Given the description of an element on the screen output the (x, y) to click on. 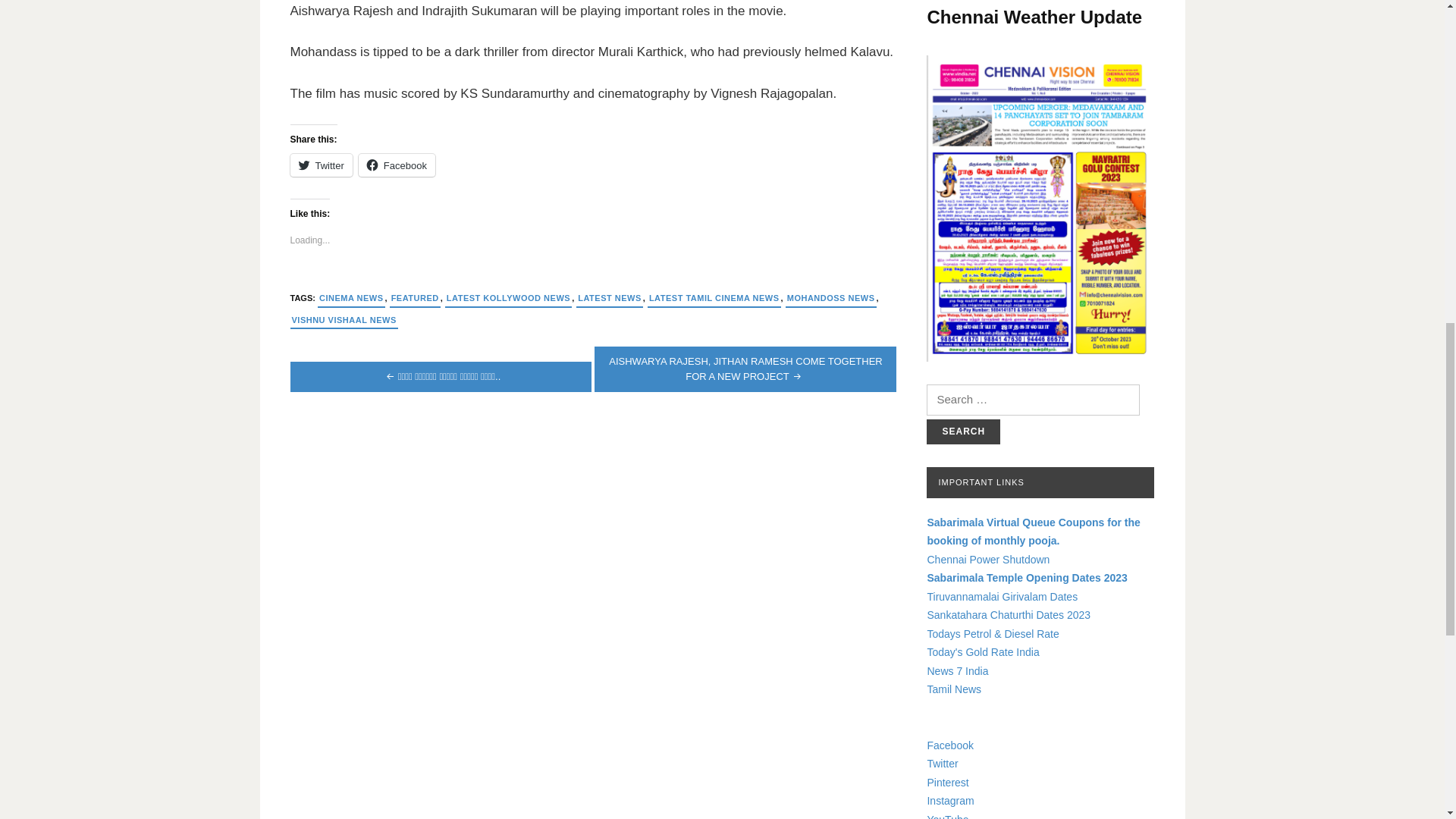
Search (963, 431)
Chennaivision Epaper (1040, 208)
Click to share on Facebook (396, 164)
Click to share on Twitter (320, 164)
Search (963, 431)
